Given the description of an element on the screen output the (x, y) to click on. 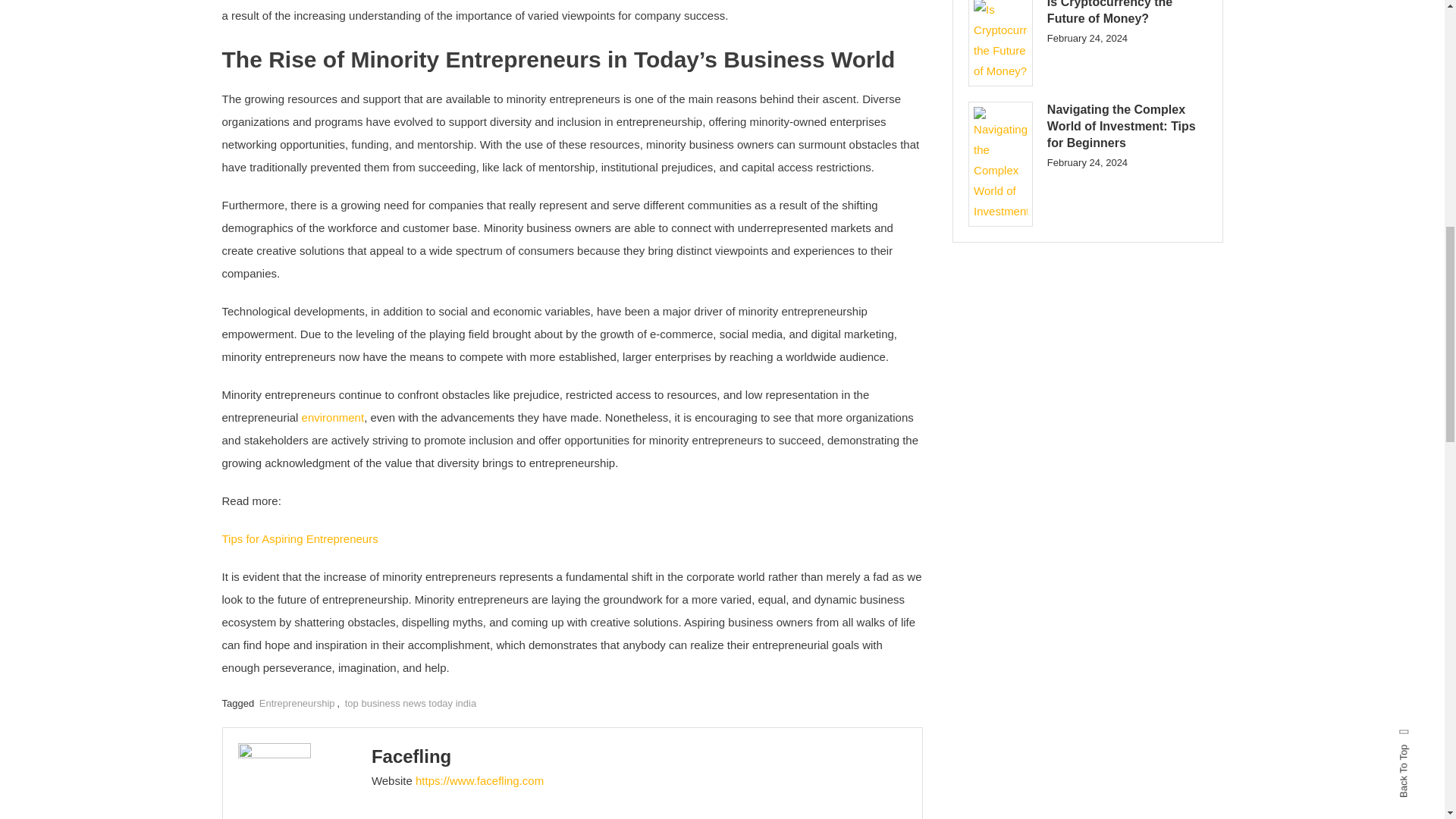
top business news today india (410, 703)
Facefling (411, 756)
Tips for Aspiring Entrepreneurs (299, 538)
environment (333, 417)
Entrepreneurship (296, 703)
Posts by facefling (411, 756)
